Given the description of an element on the screen output the (x, y) to click on. 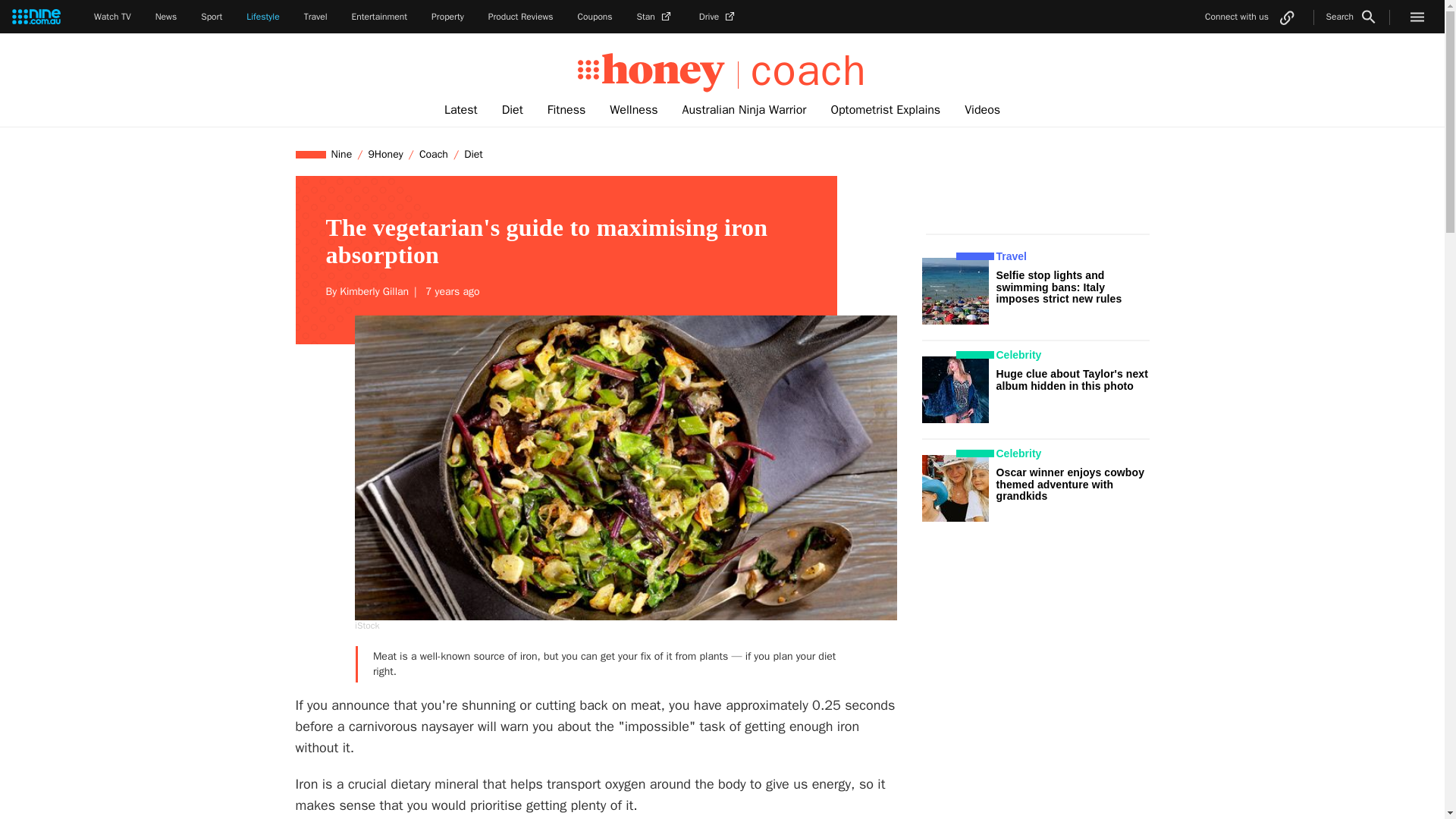
Nine (342, 154)
coach (802, 71)
9Honey (384, 154)
Product Reviews (520, 16)
Property (447, 16)
Wellness (632, 109)
Diet (472, 154)
Videos (981, 109)
Latest (460, 109)
Diet (512, 109)
